Given the description of an element on the screen output the (x, y) to click on. 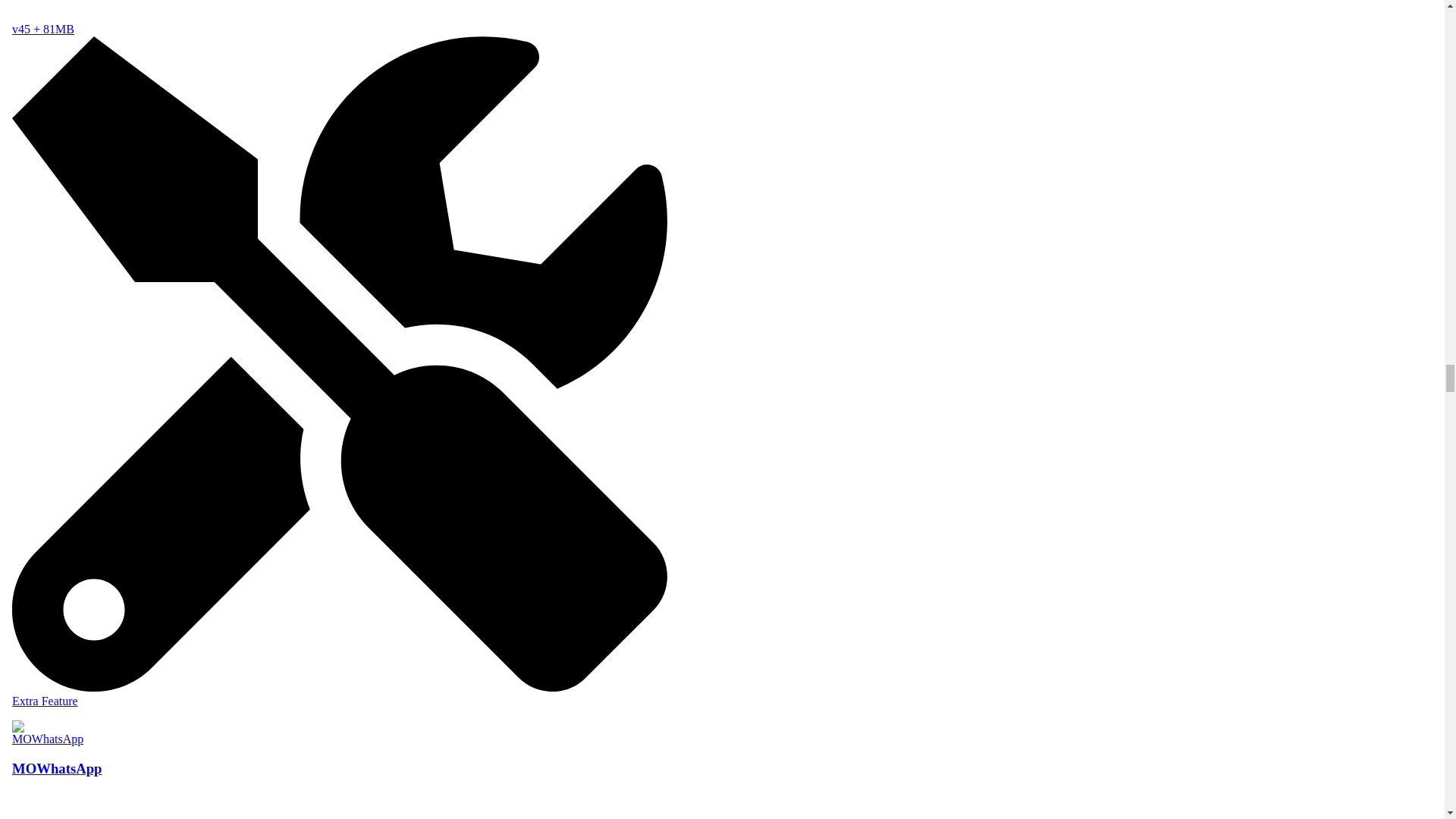
MOWhatsApp (338, 766)
